Given the description of an element on the screen output the (x, y) to click on. 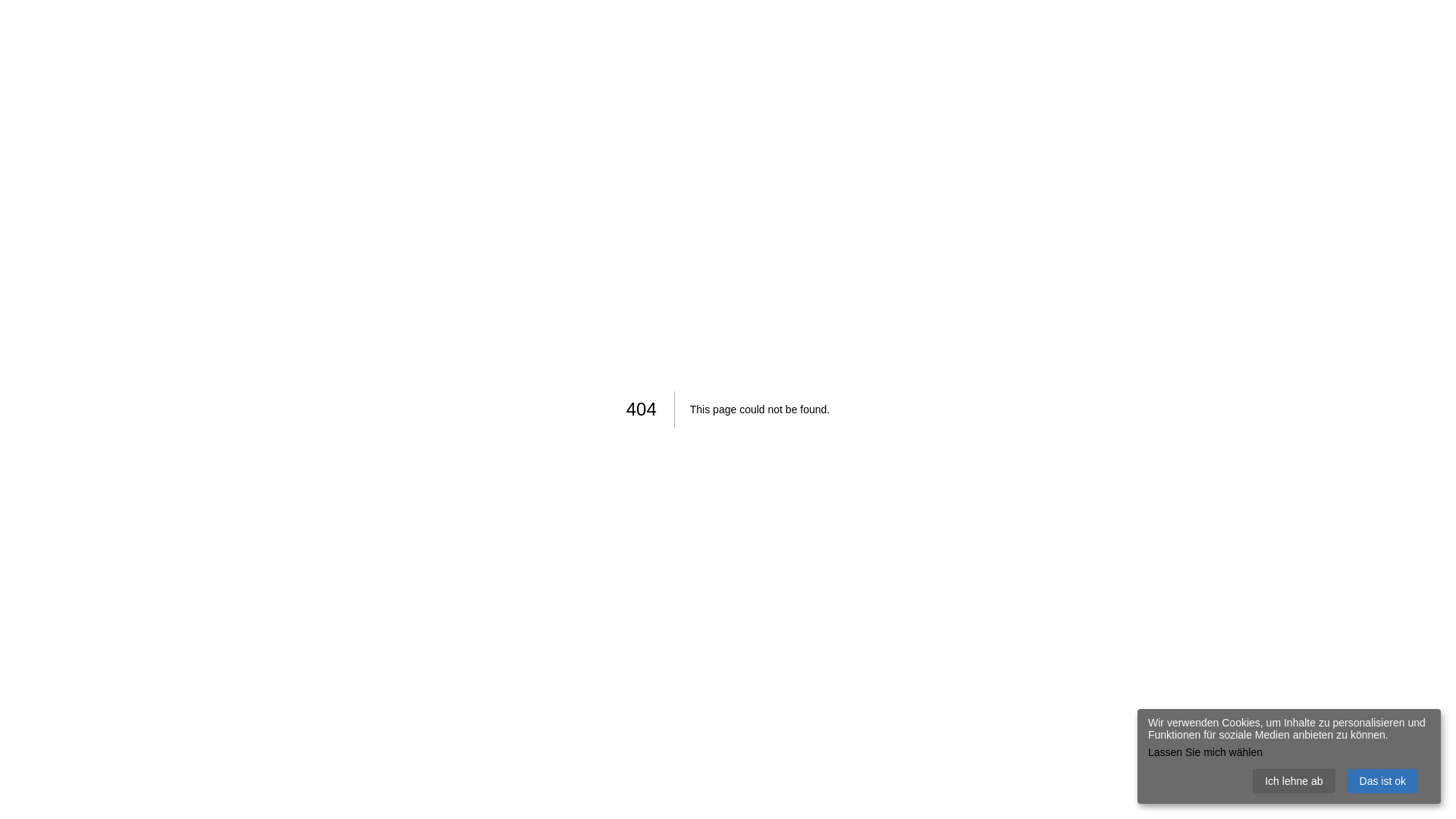
Ich lehne ab Element type: text (1293, 780)
Das ist ok Element type: text (1382, 780)
